Given the description of an element on the screen output the (x, y) to click on. 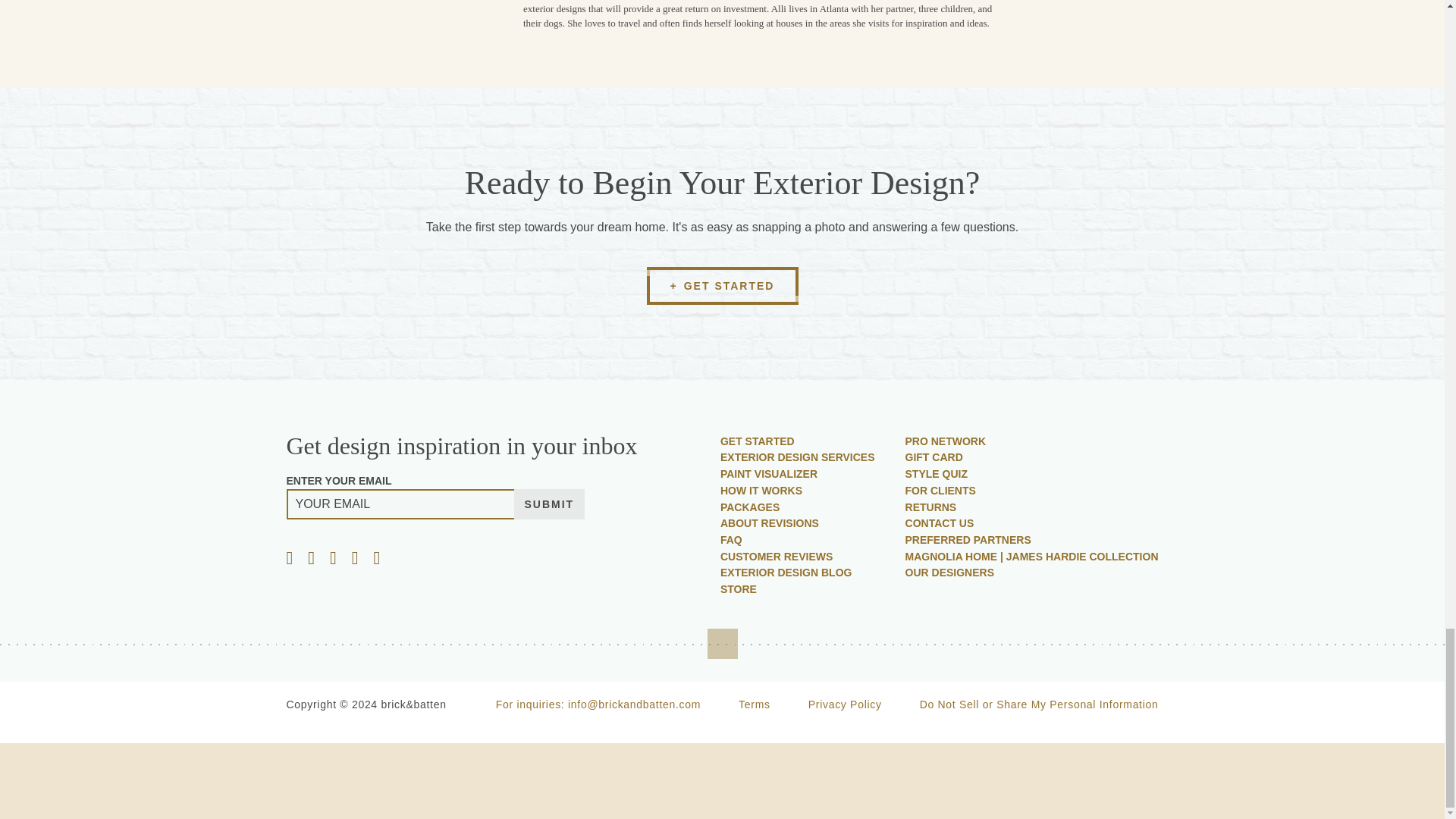
GET STARTED (757, 440)
GET STARTED (721, 285)
SUBMIT (549, 503)
EXTERIOR DESIGN SERVICES (797, 457)
